Given the description of an element on the screen output the (x, y) to click on. 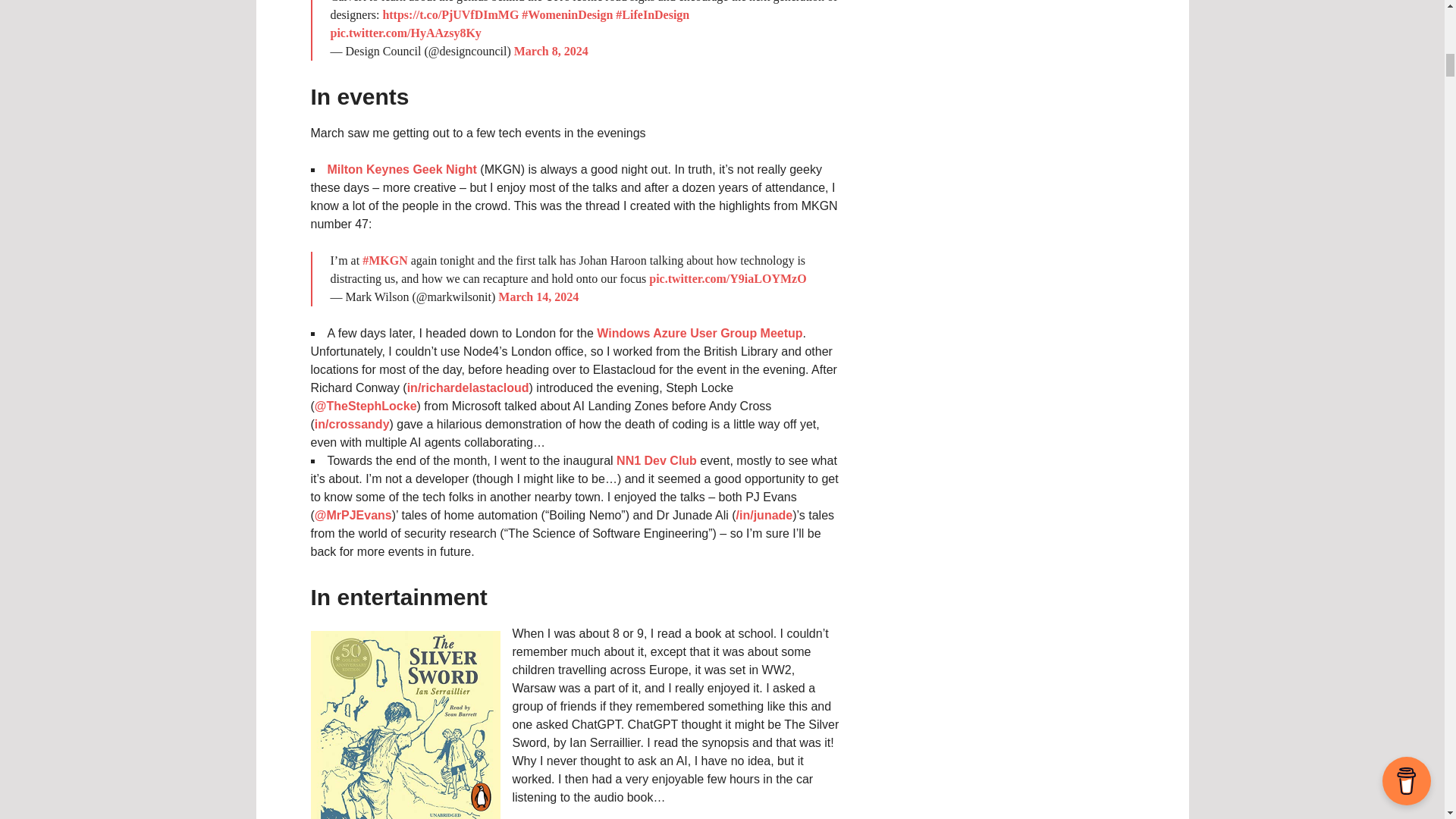
Windows Azure User Group Meetup (699, 332)
NN1 Dev Club (656, 460)
Milton Keynes Geek Night (402, 169)
March 8, 2024 (550, 51)
March 14, 2024 (537, 296)
